Given the description of an element on the screen output the (x, y) to click on. 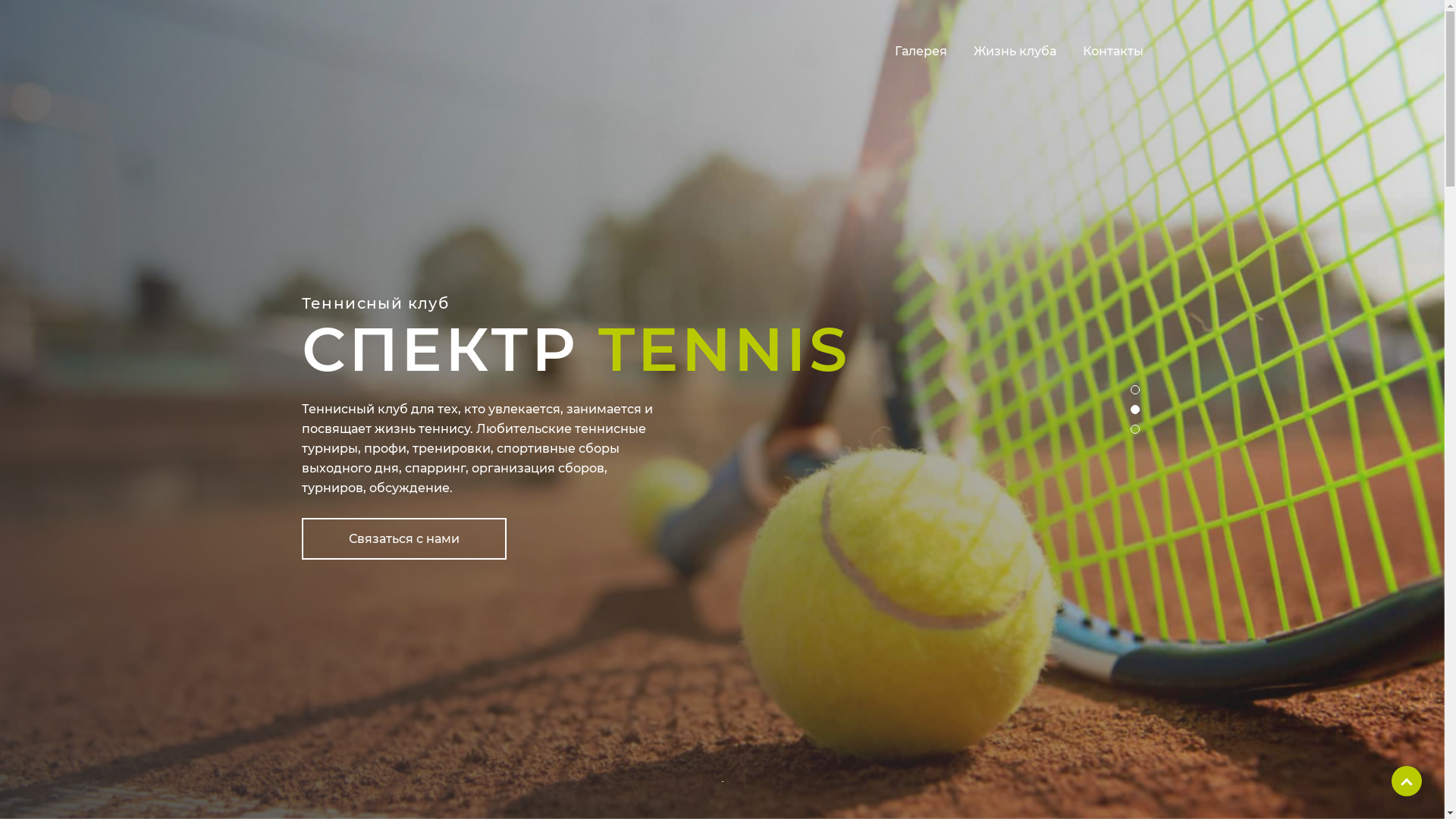
1 Element type: text (1138, 393)
3 Element type: text (1138, 432)
2 Element type: text (1138, 412)
